Given the description of an element on the screen output the (x, y) to click on. 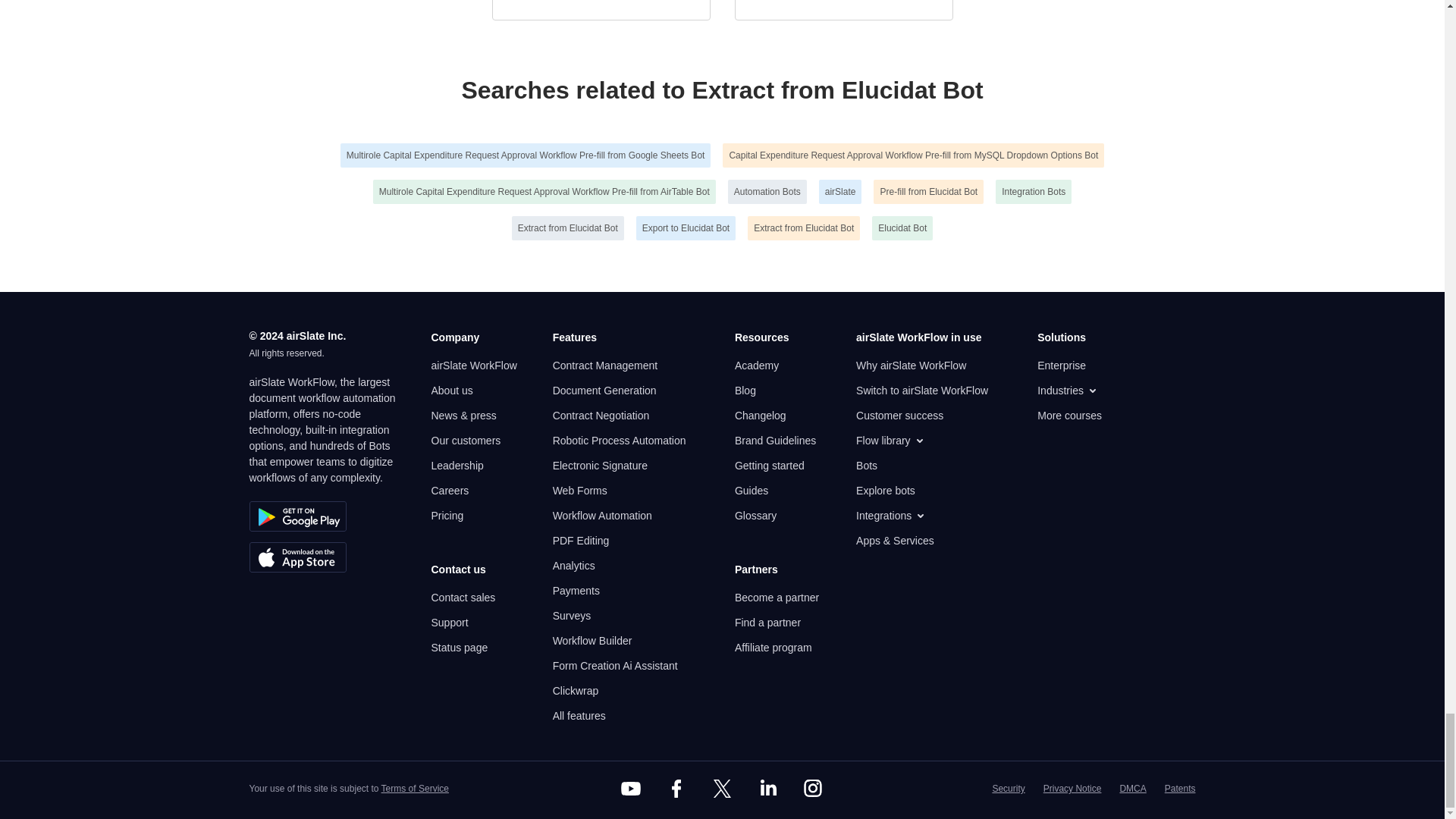
Instagram (812, 788)
YouTube (630, 788)
Facebook (676, 788)
Twitter (721, 788)
LinkedIn (767, 788)
